Given the description of an element on the screen output the (x, y) to click on. 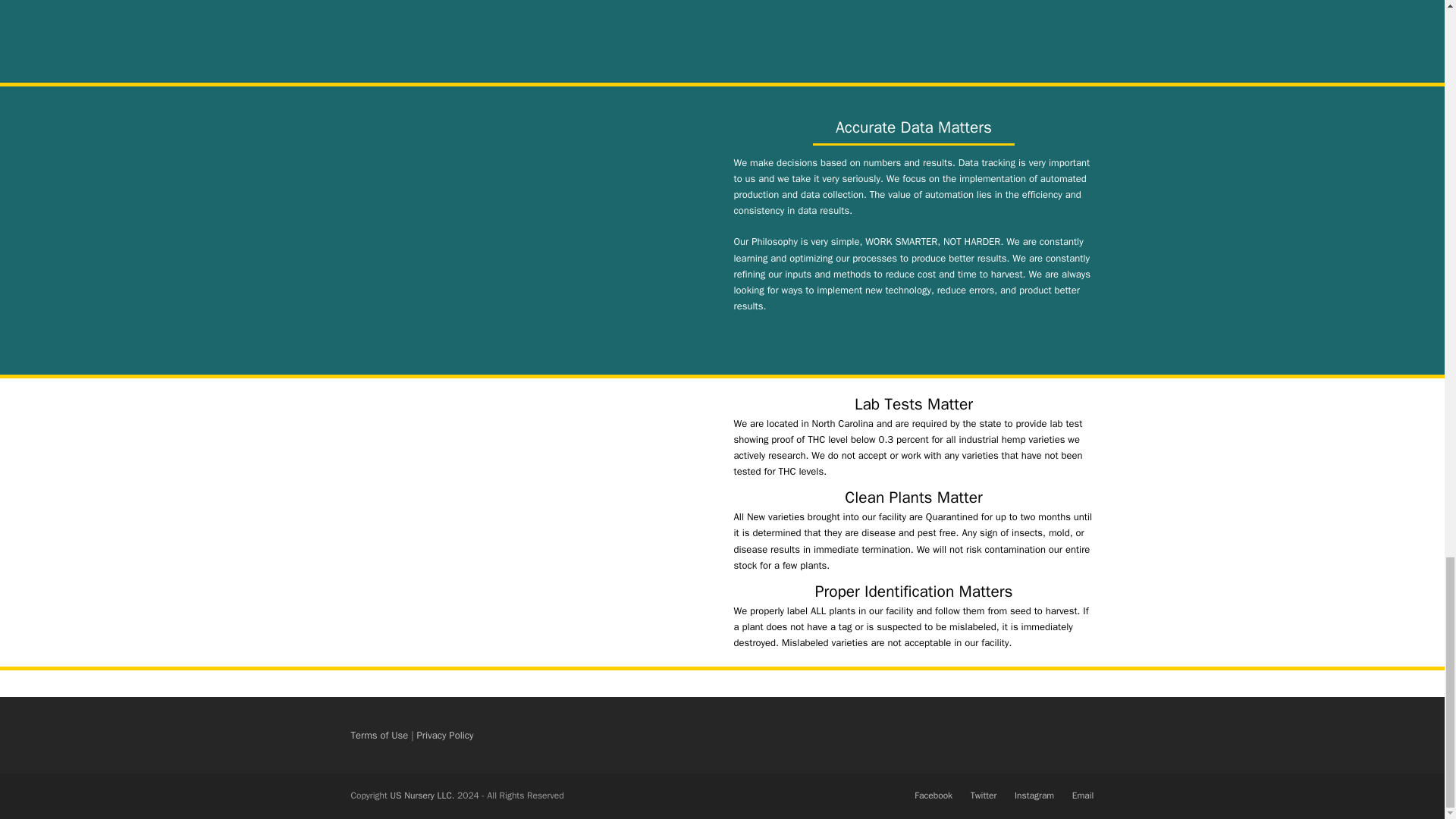
Twitter (984, 795)
Privacy Policy (445, 735)
Facebook (933, 795)
Instagram (1034, 795)
US Nursery LLC. (422, 795)
Terms of Use (378, 735)
Email (1082, 795)
